Given the description of an element on the screen output the (x, y) to click on. 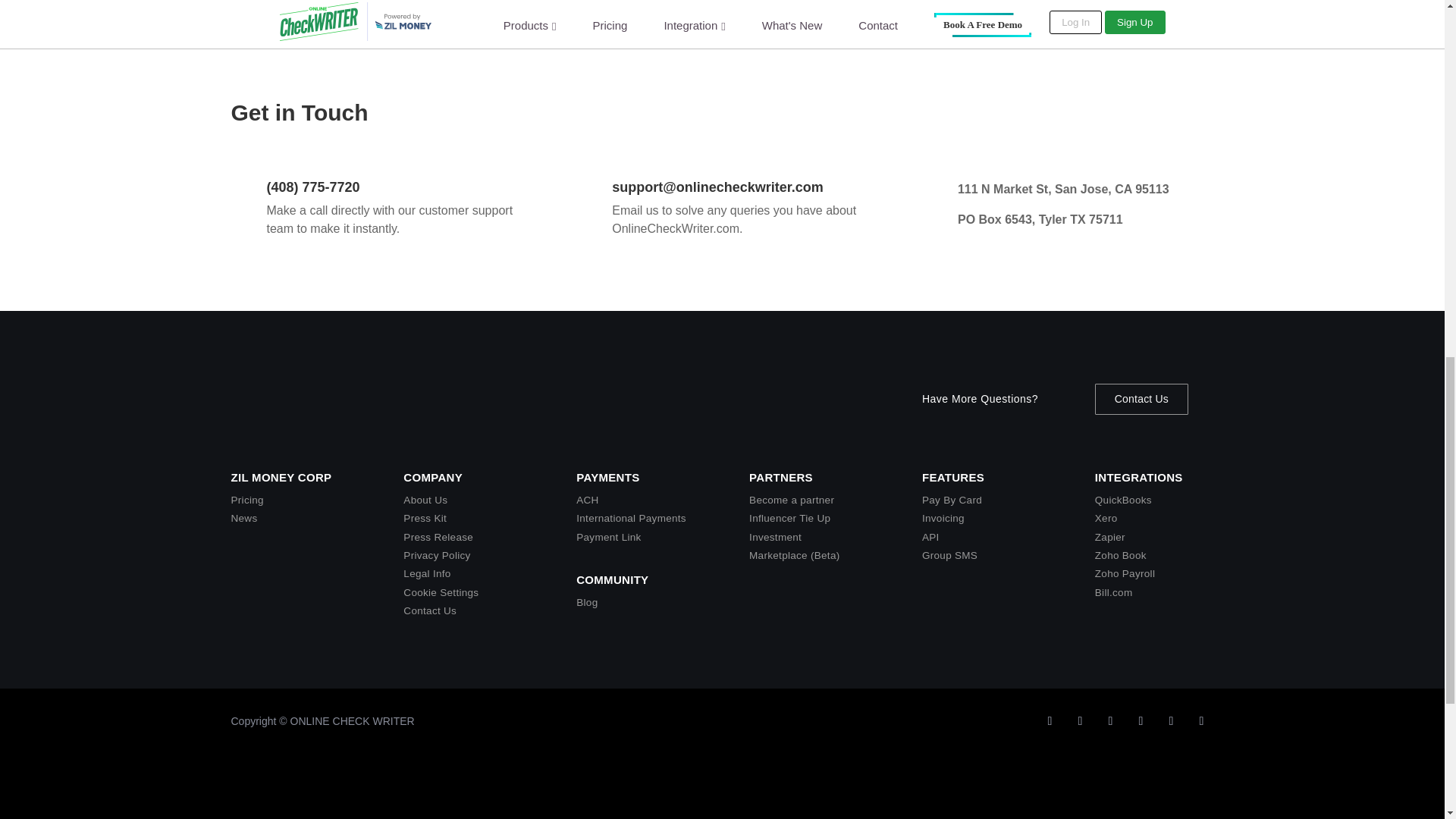
Follow on Pinterest (1200, 721)
Follow on Facebook (1170, 721)
Follow on Instagram (1140, 721)
Follow on Youtube (1079, 721)
Follow on LinkedIn (1109, 721)
Follow on X (1048, 721)
